Given the description of an element on the screen output the (x, y) to click on. 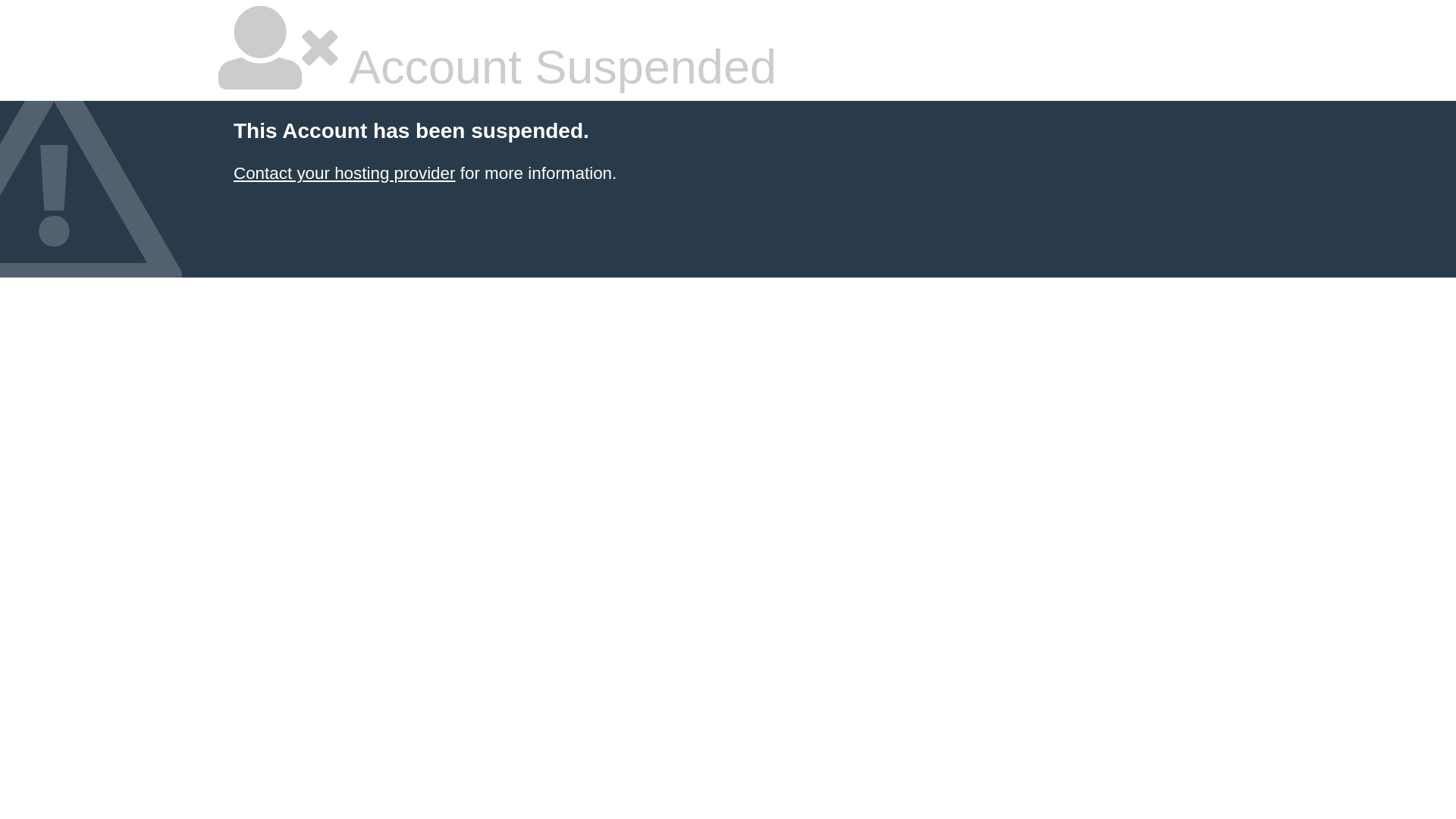
Contact your hosting provider Element type: text (344, 172)
